Given the description of an element on the screen output the (x, y) to click on. 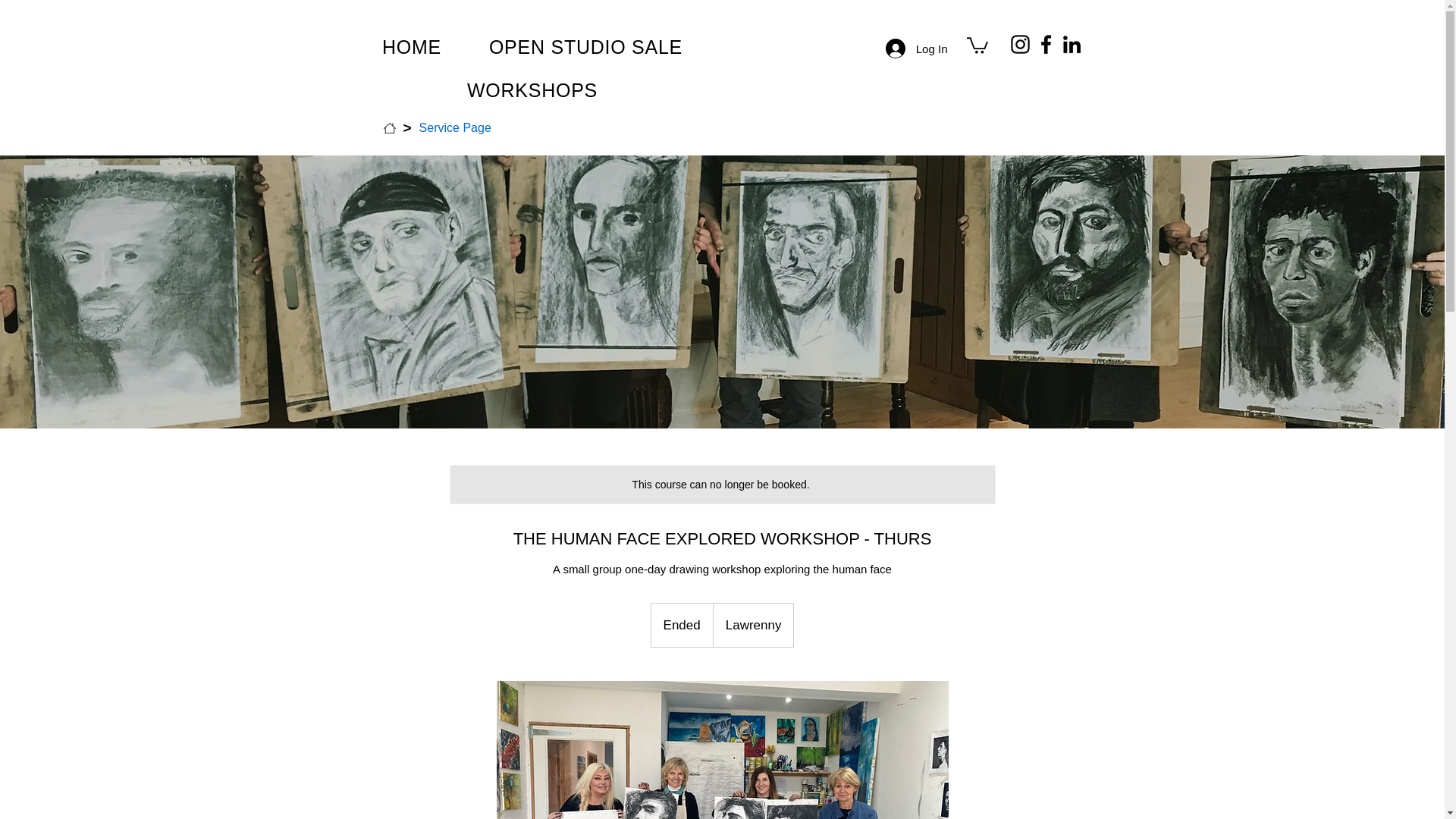
OPEN STUDIO SALE (585, 47)
WORKSHOPS (532, 90)
Log In (916, 48)
Service Page (455, 127)
HOME (411, 47)
